Given the description of an element on the screen output the (x, y) to click on. 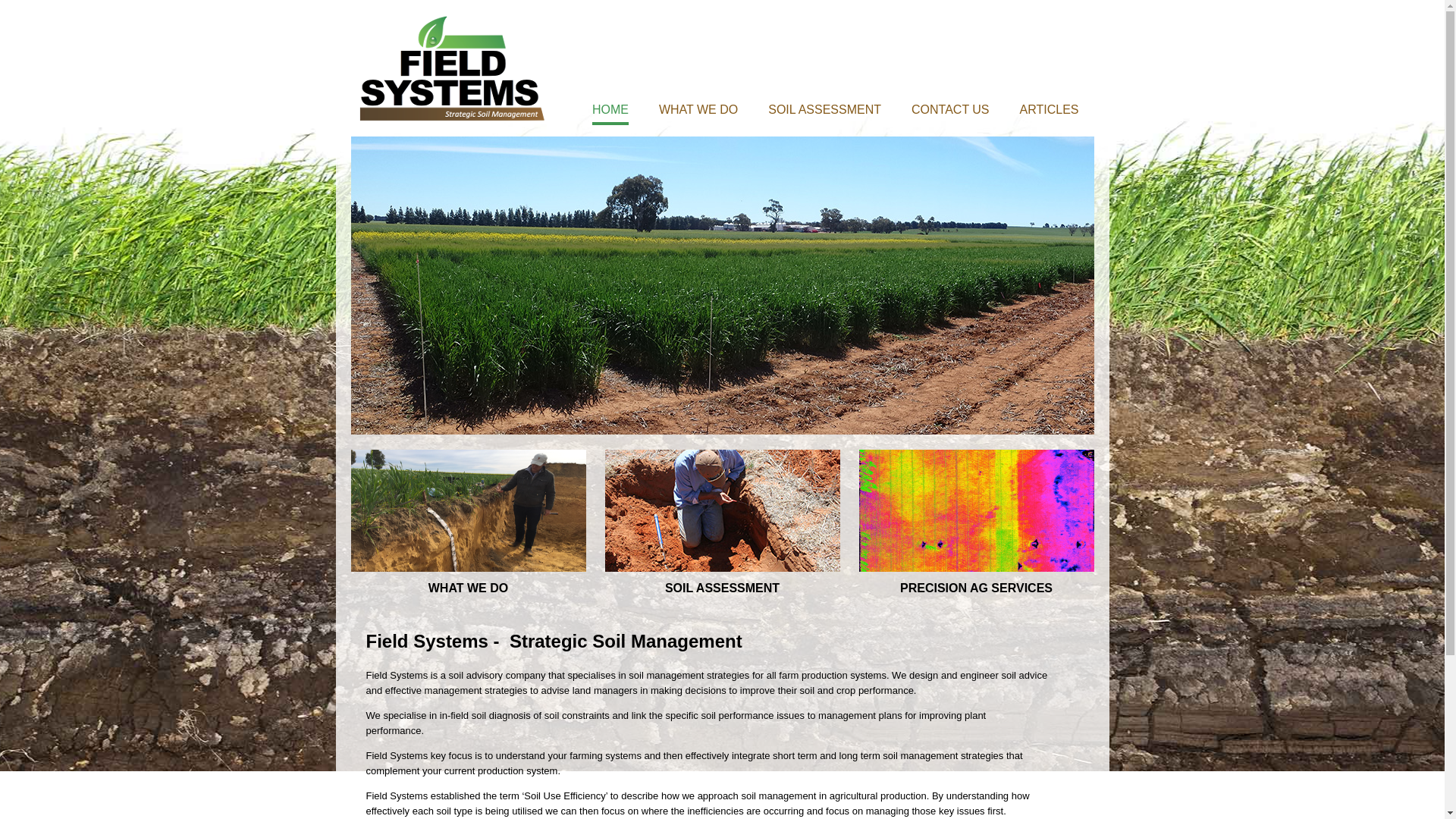
HOME Element type: text (610, 109)
WHAT WE DO Element type: text (697, 109)
WHAT WE DO Element type: text (467, 588)
PRECISION AG SERVICES Element type: text (975, 588)
CONTACT US Element type: text (950, 109)
SOIL ASSESSMENT Element type: text (824, 109)
ARTICLES Element type: text (1049, 109)
SOIL ASSESSMENT Element type: text (722, 588)
